Given the description of an element on the screen output the (x, y) to click on. 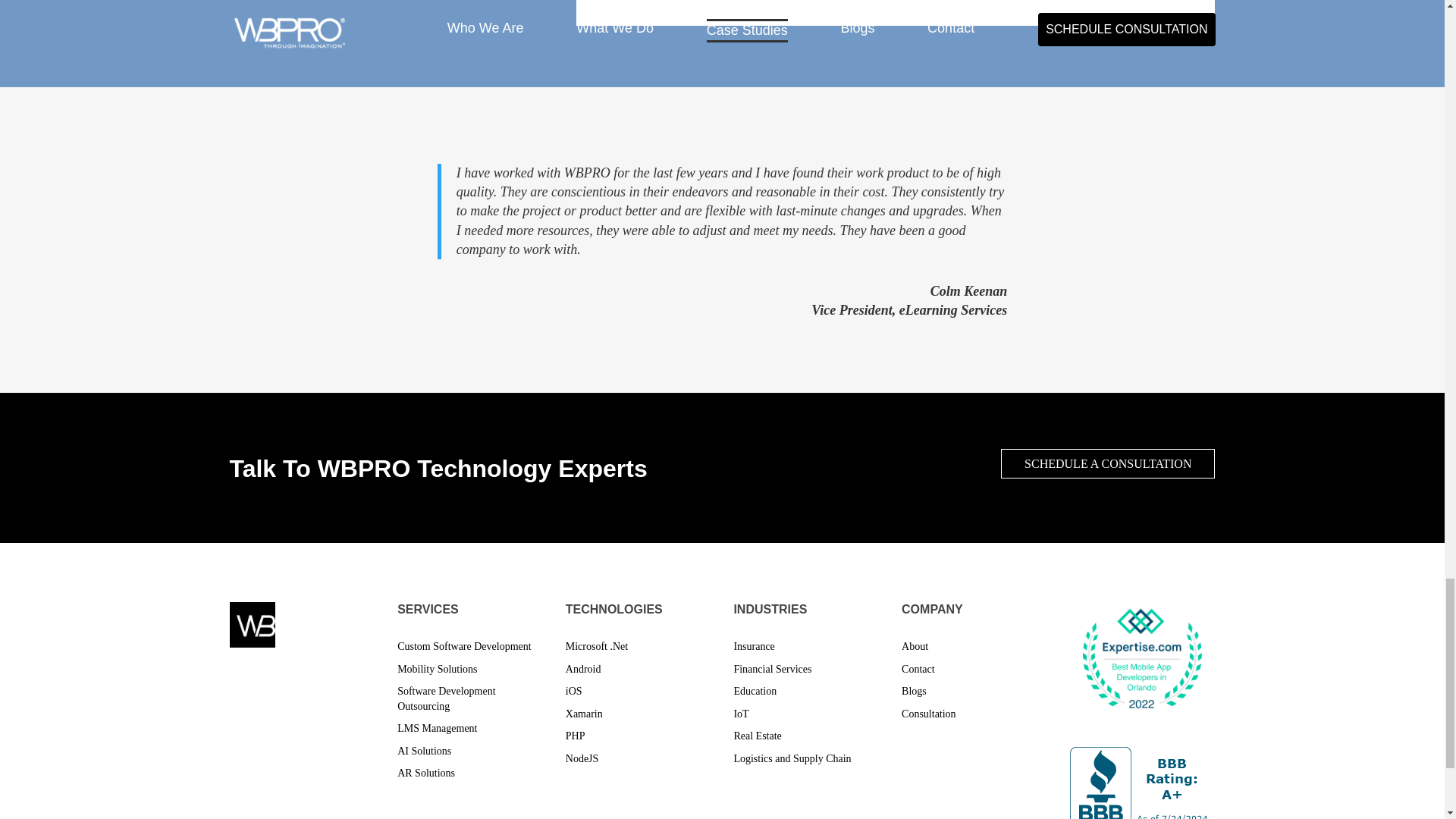
Education (754, 690)
Microsoft .Net (596, 645)
PHP (575, 736)
AI Solutions (424, 750)
Android (583, 668)
Software Development Outsourcing (446, 698)
About (914, 645)
Xamarin (584, 713)
Custom Software Development (464, 645)
Blogs (913, 690)
Real Estate (756, 736)
SCHEDULE A CONSULTATION (1107, 463)
Insurance (753, 645)
Logistics and Supply Chain (791, 758)
LMS Management (437, 727)
